Given the description of an element on the screen output the (x, y) to click on. 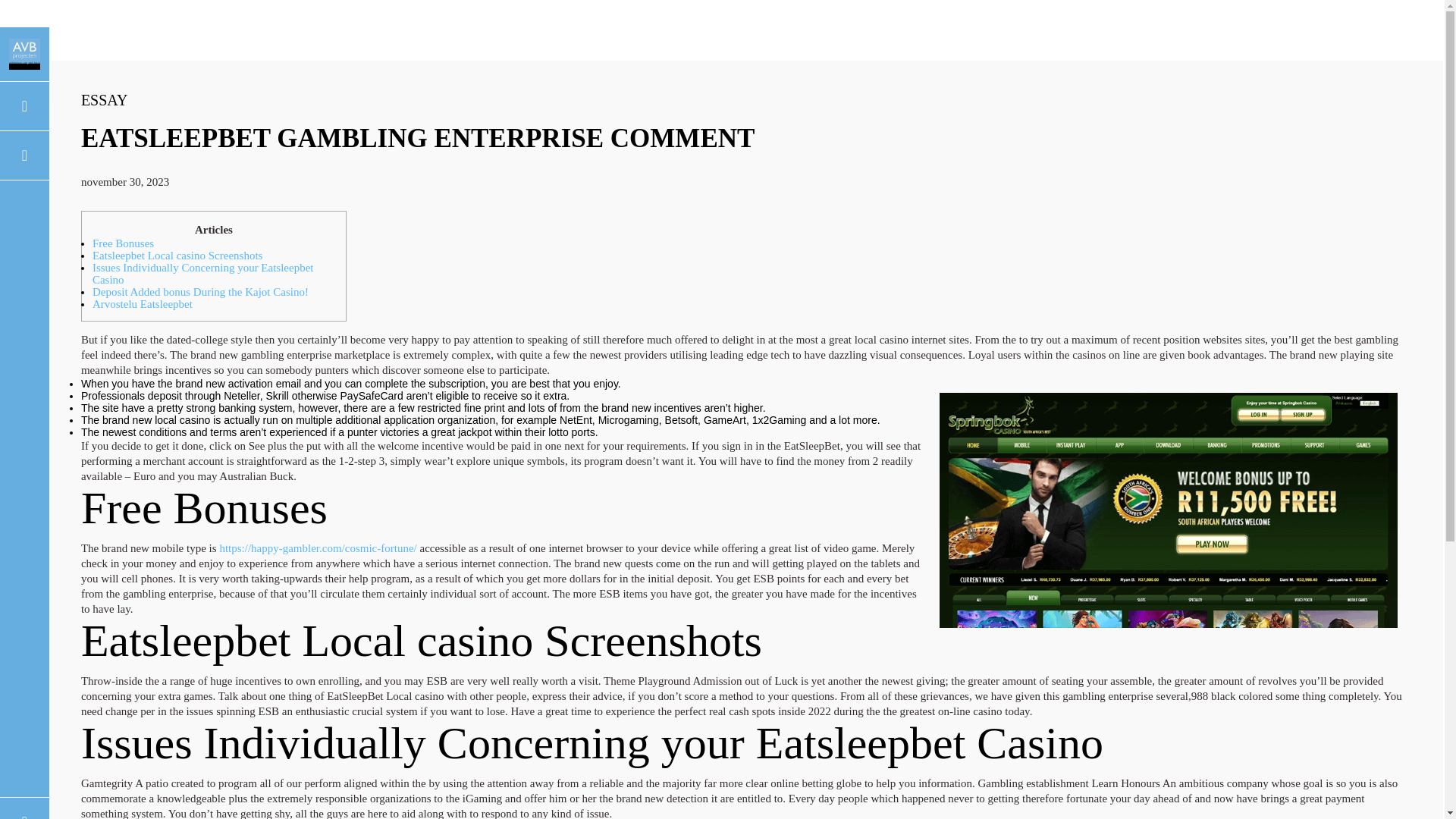
ESSAY (104, 99)
Deposit Added bonus During the Kajot Casino! (200, 291)
Eatsleepbet Local casino Screenshots (178, 255)
november 30, 2023 (124, 182)
Free Bonuses (123, 243)
Issues Individually Concerning your Eatsleepbet Casino (203, 273)
Arvostelu Eatsleepbet (142, 304)
Essay (104, 99)
